Given the description of an element on the screen output the (x, y) to click on. 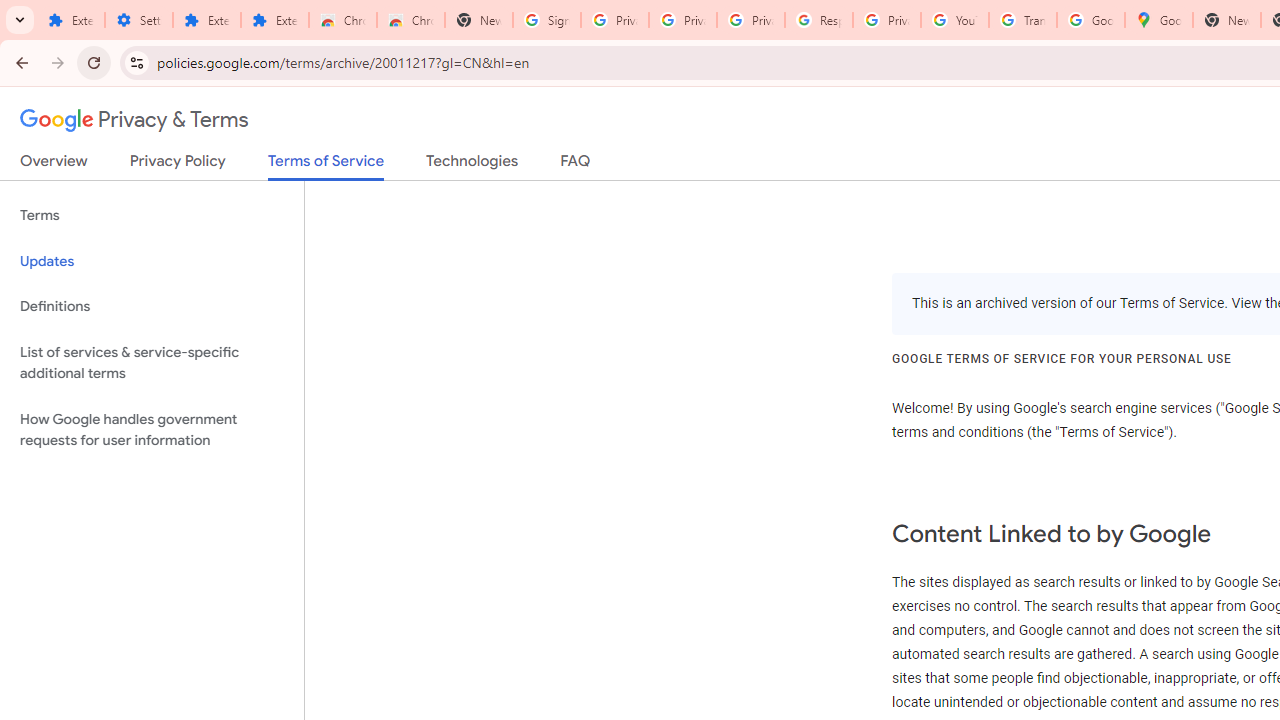
Extensions (70, 20)
Sign in - Google Accounts (547, 20)
